Given the description of an element on the screen output the (x, y) to click on. 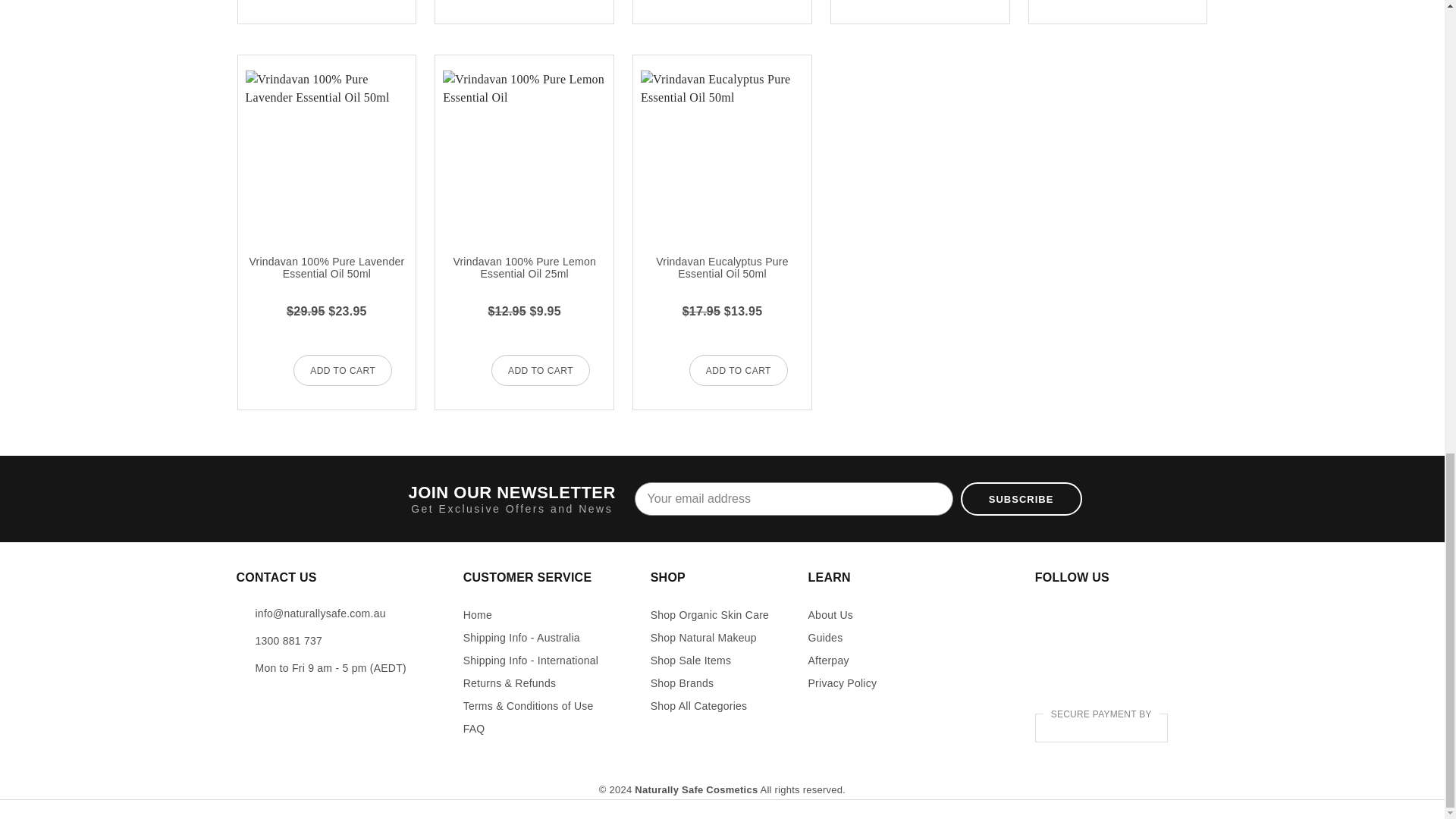
1300 881 737 (287, 640)
Vrindavan Eucalyptus Pure Essential Oil 50ml (721, 151)
Subscribe (1020, 498)
